Given the description of an element on the screen output the (x, y) to click on. 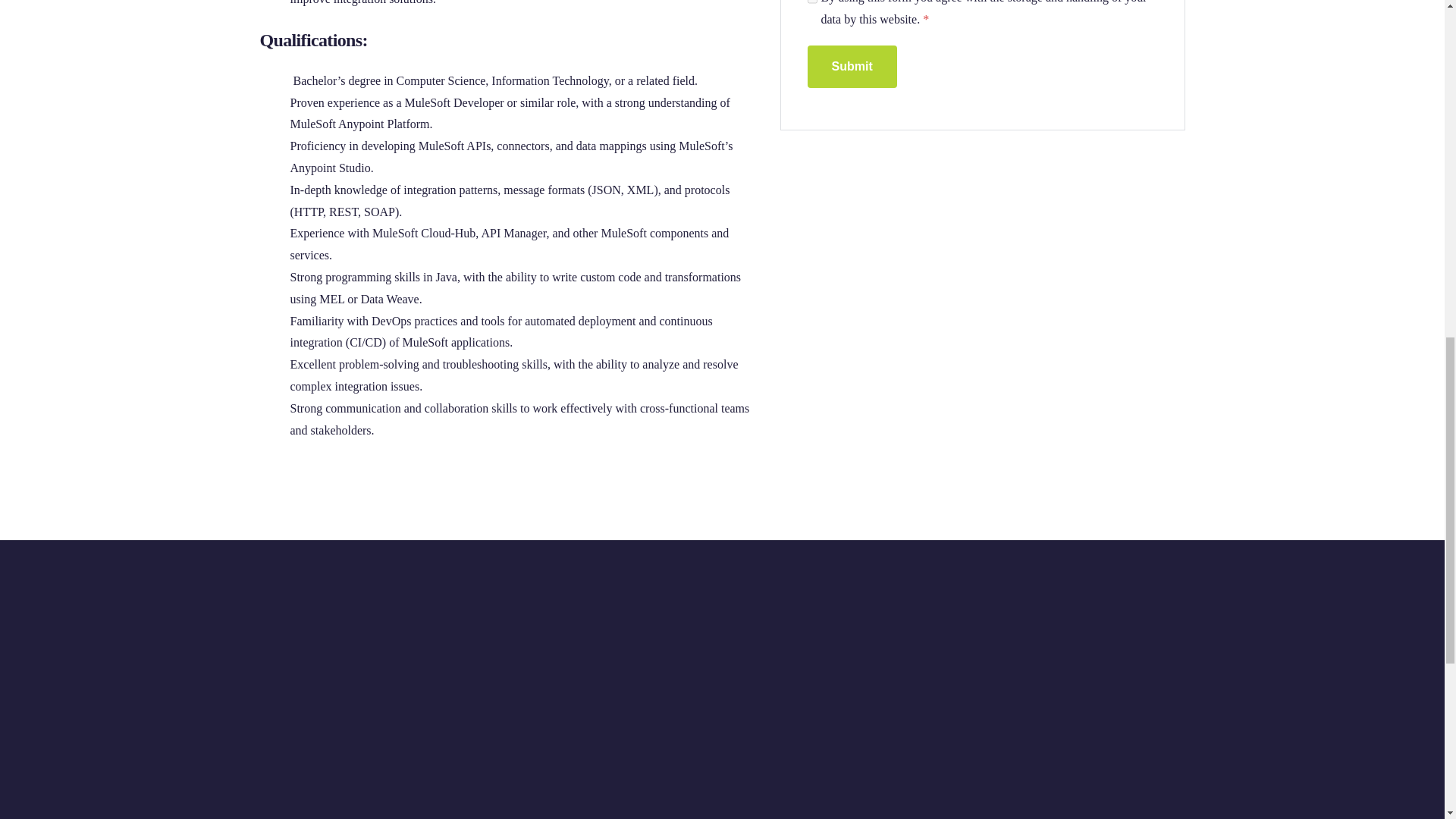
Submit (851, 66)
Submit (851, 66)
yes (811, 4)
